Given the description of an element on the screen output the (x, y) to click on. 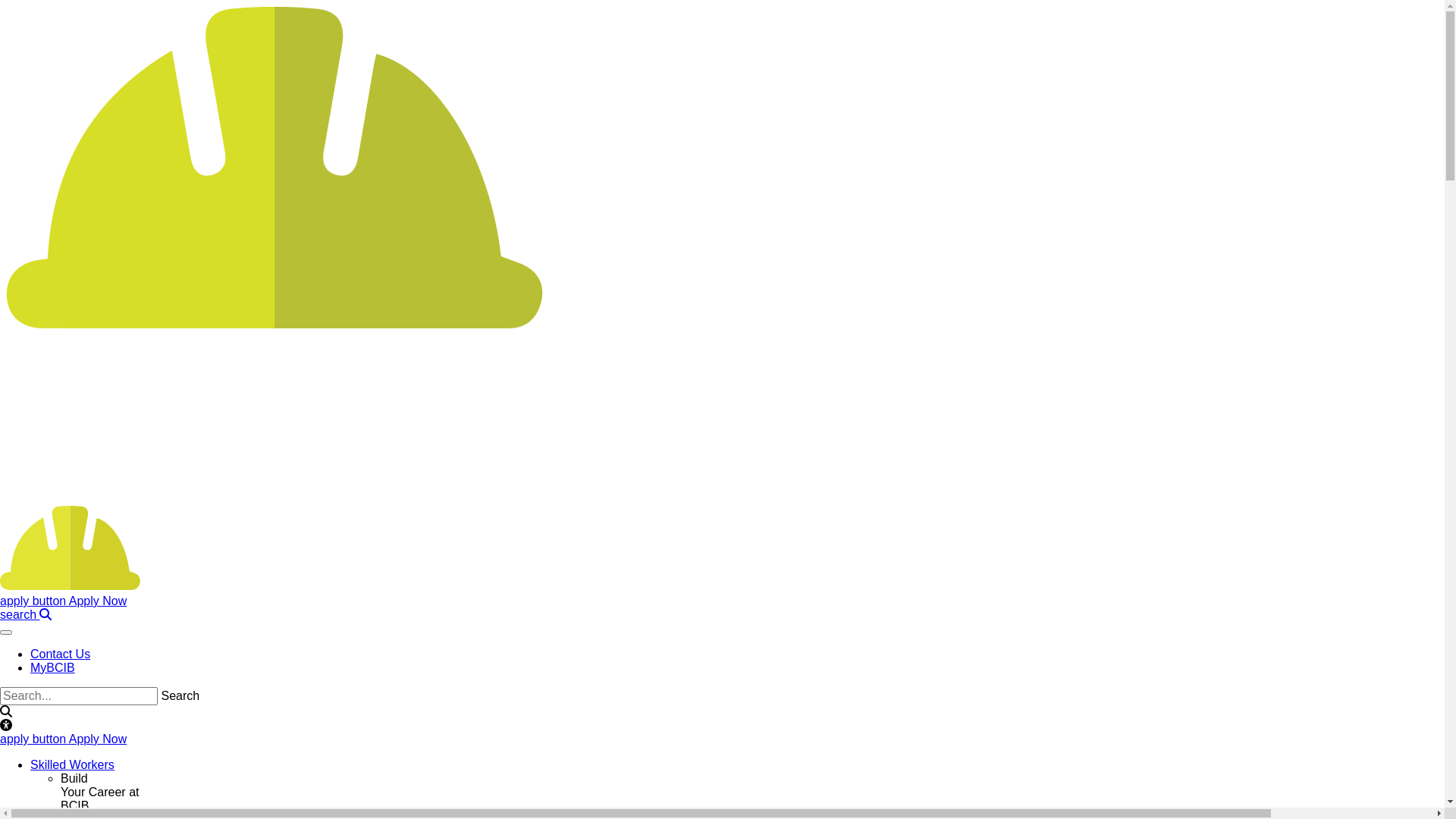
apply button Apply Now Element type: text (63, 600)
MyBCIB Element type: text (52, 667)
Contact Us Element type: text (60, 653)
apply button Apply Now Element type: text (63, 738)
Skilled Workers Element type: text (72, 764)
Build
Your Career at
BCIB Element type: text (99, 791)
search Element type: text (25, 614)
Accessibility Mode Element type: hover (722, 725)
